Given the description of an element on the screen output the (x, y) to click on. 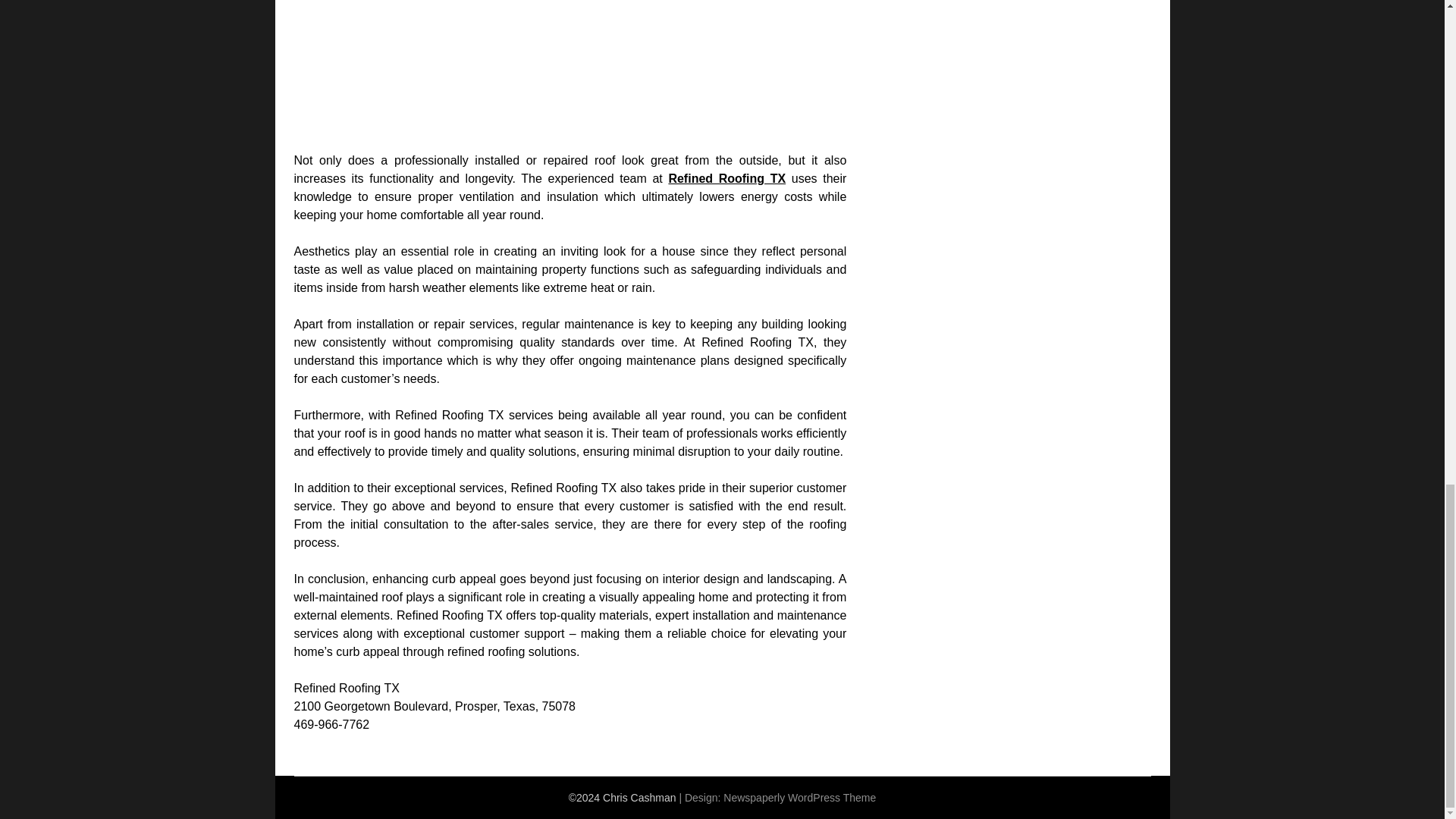
Newspaperly WordPress Theme (799, 797)
Refined Roofing TX (727, 178)
